Given the description of an element on the screen output the (x, y) to click on. 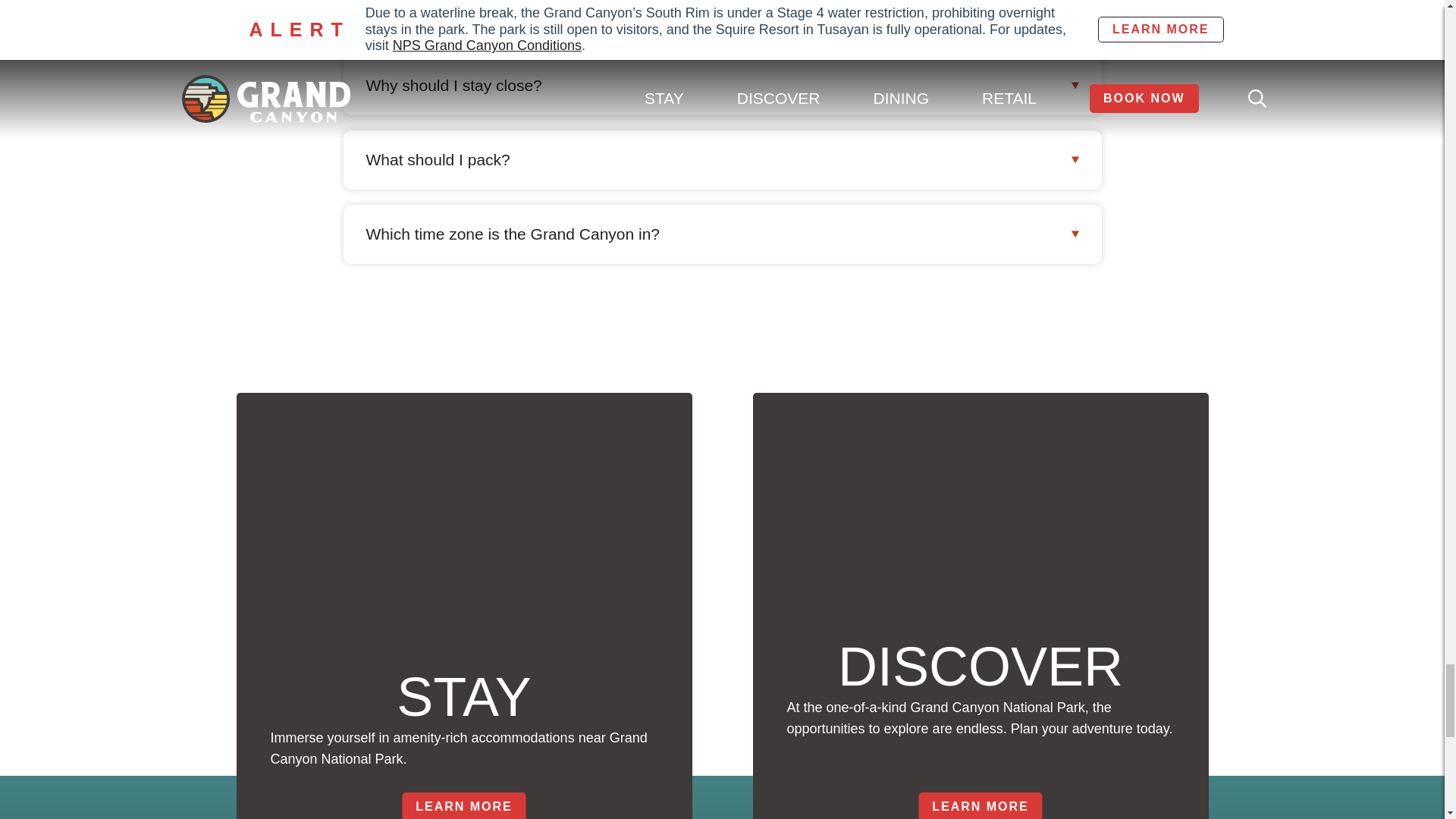
Where should I fly in to see the canyon? (721, 20)
Which time zone is the Grand Canyon in? (721, 233)
What should I pack? (721, 159)
Why should I stay close? (721, 85)
